Given the description of an element on the screen output the (x, y) to click on. 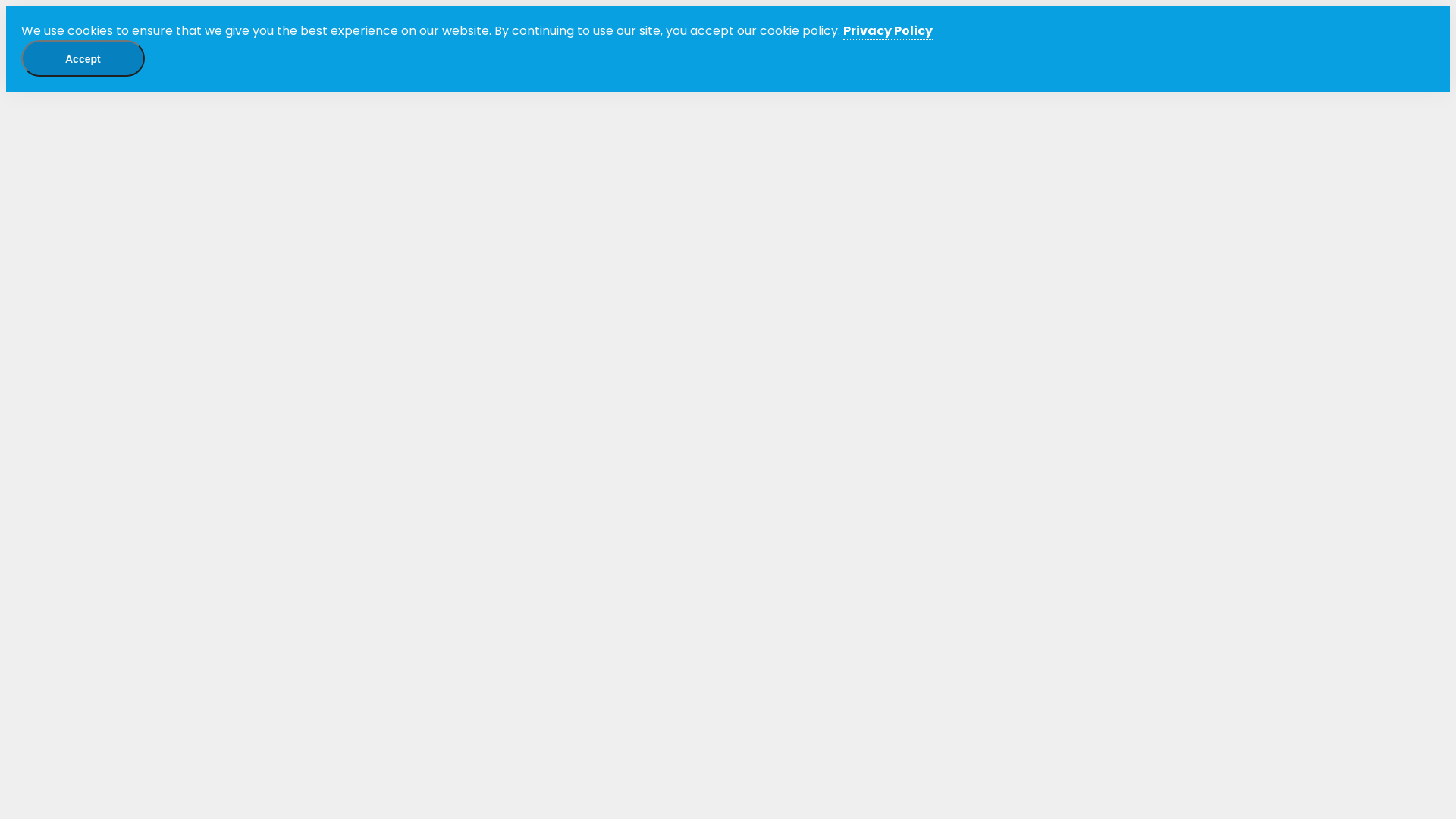
Privacy Policy Element type: text (887, 30)
Accept Element type: text (82, 58)
